Given the description of an element on the screen output the (x, y) to click on. 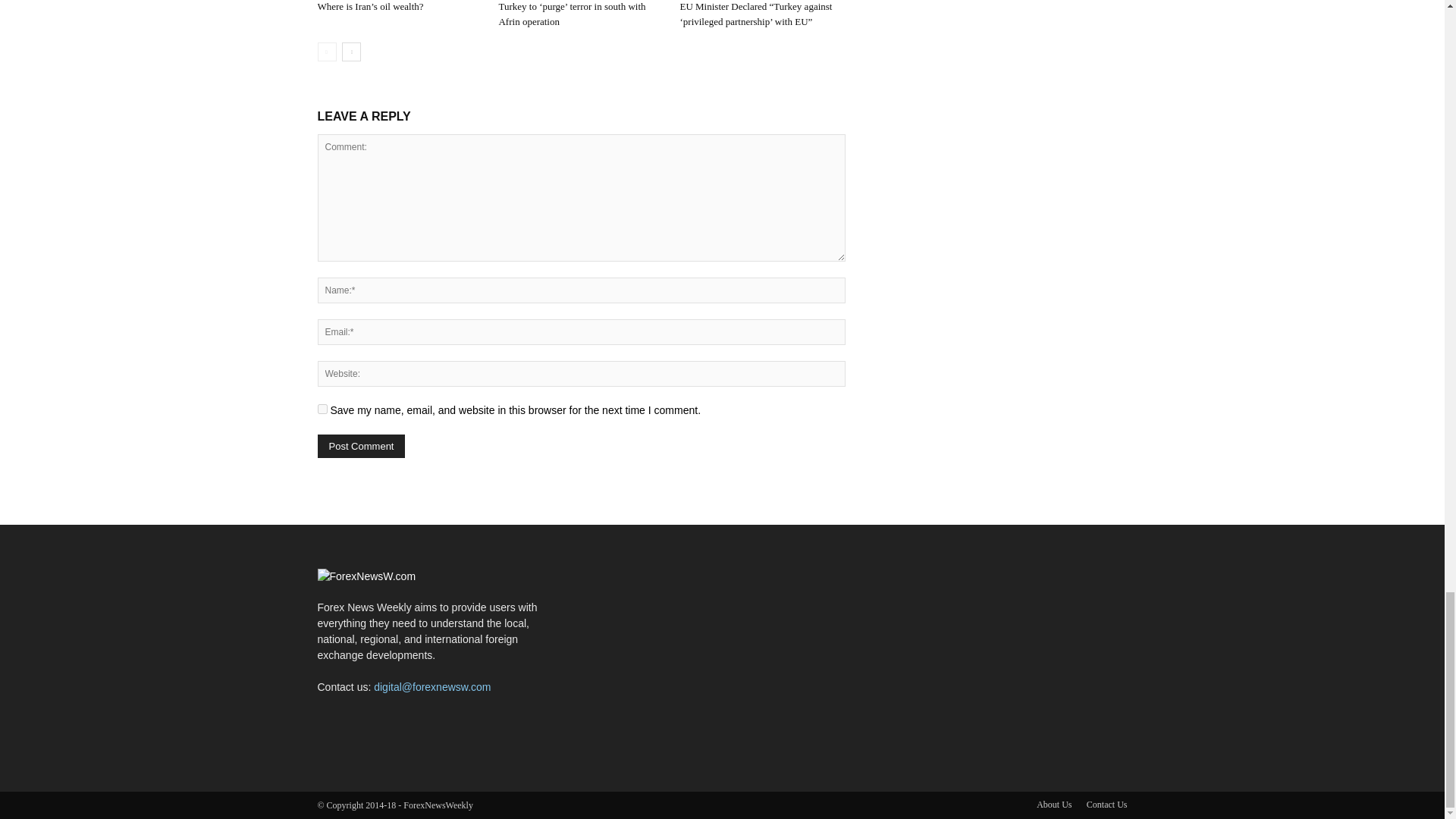
Post Comment (360, 445)
yes (321, 409)
